Given the description of an element on the screen output the (x, y) to click on. 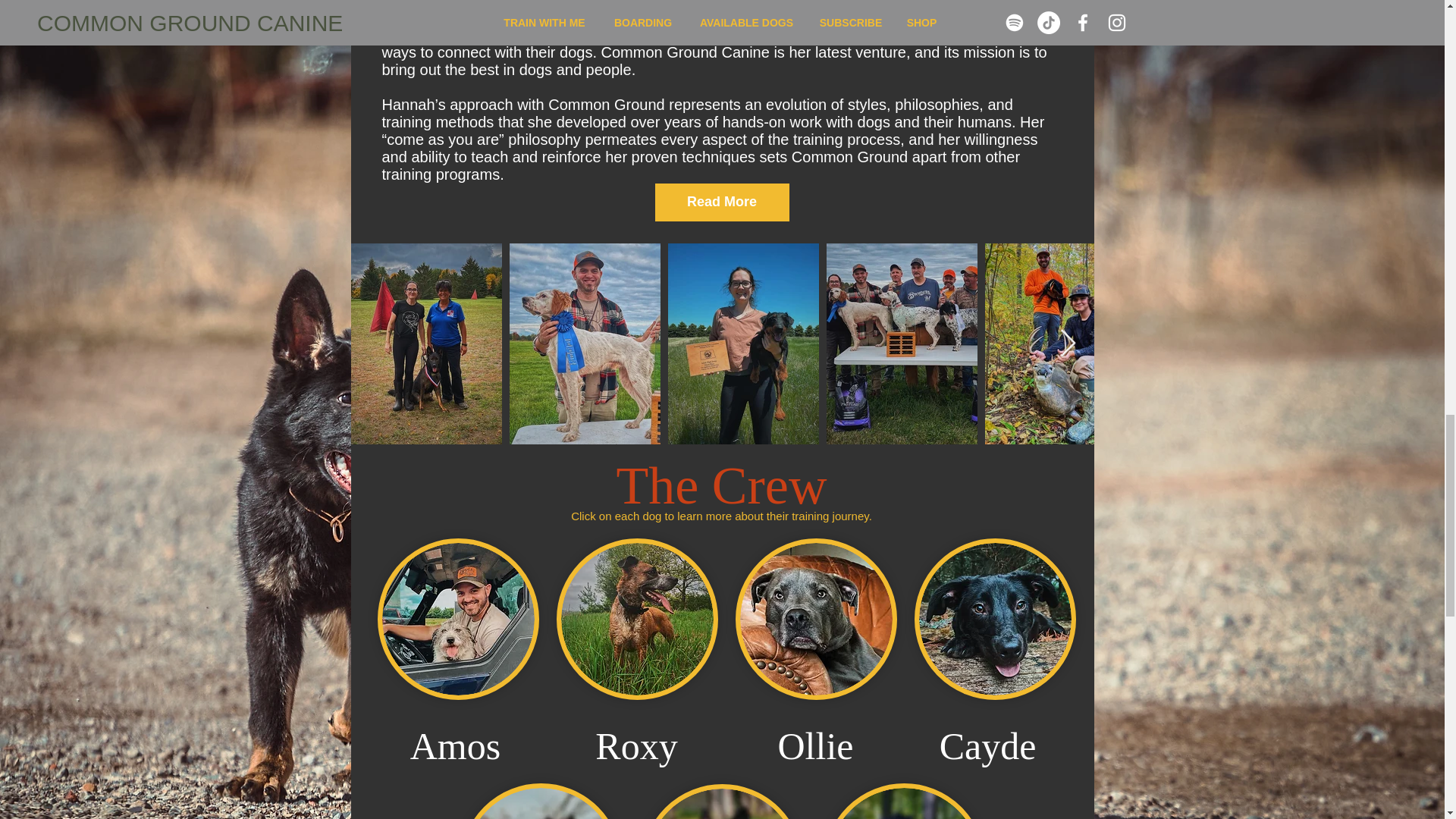
Read More (722, 202)
